Given the description of an element on the screen output the (x, y) to click on. 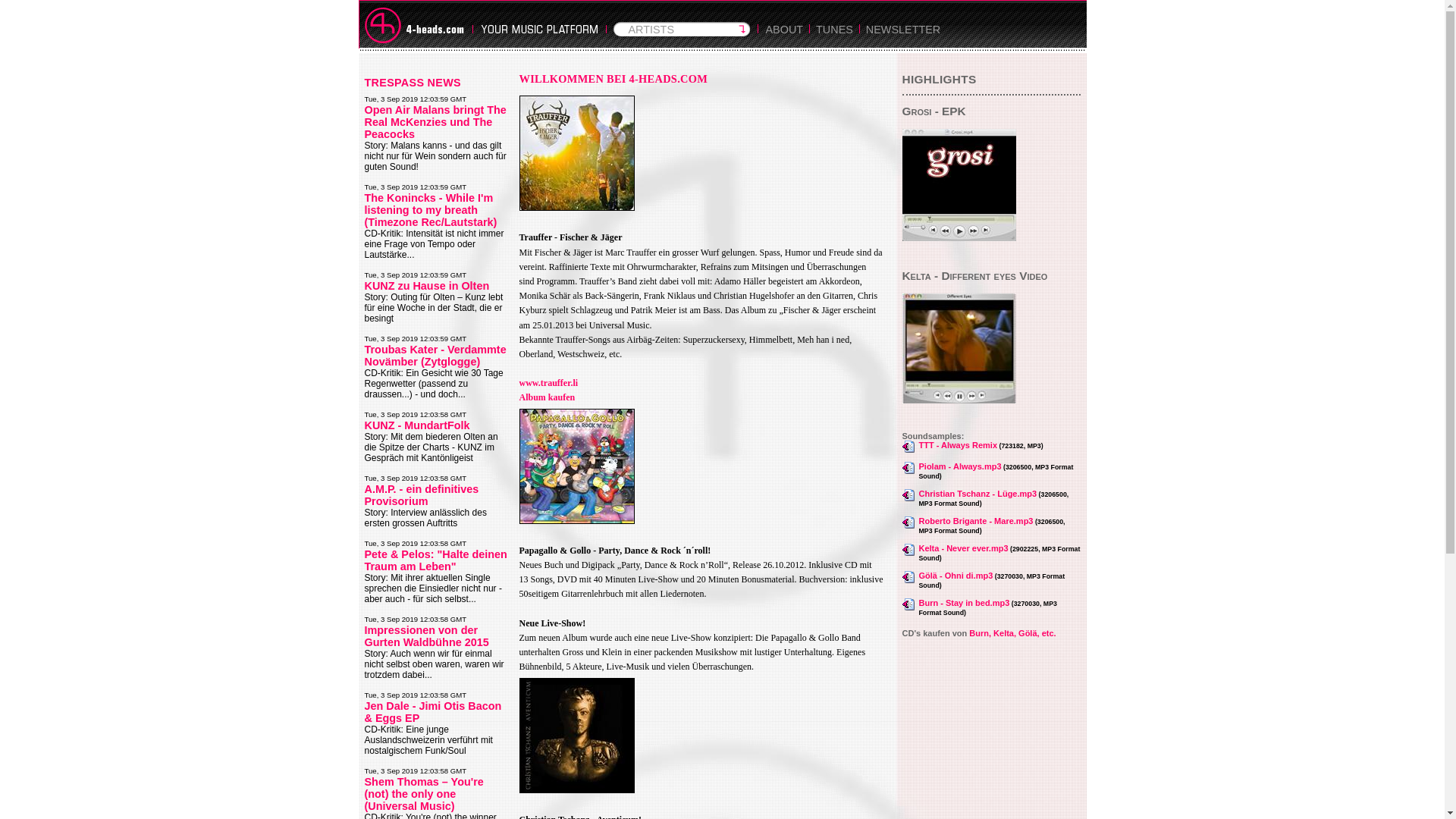
NEWSLETTER Element type: text (903, 40)
TTT - Always Remix (723182, MP3) Element type: text (991, 446)
Pete & Pelos: "Halte deinen Traum am Leben" Element type: text (435, 560)
KUNZ - MundartFolk Element type: text (416, 425)
HOME Element type: text (416, 24)
TUNES Element type: text (834, 40)
Kelta - Never ever.mp3 (2902225, MP3 Format Sound) Element type: text (991, 552)
www.trauffer.li Element type: text (547, 382)
ABOUT Element type: text (784, 40)
Album kaufen Element type: text (546, 397)
ARTISTS Element type: text (680, 40)
Piolam - Always.mp3 (3206500, MP3 Format Sound) Element type: text (991, 470)
Roberto Brigante - Mare.mp3 (3206500, MP3 Format Sound) Element type: text (991, 525)
Open Air Malans bringt The Real McKenzies und The Peacocks Element type: text (434, 121)
Jen Dale - Jimi Otis Bacon & Eggs EP Element type: text (432, 711)
KUNZ zu Hause in Olten Element type: text (426, 285)
Burn - Stay in bed.mp3 (3270030, MP3 Format Sound) Element type: text (991, 607)
A.M.P. - ein definitives Provisorium Element type: text (421, 495)
